Given the description of an element on the screen output the (x, y) to click on. 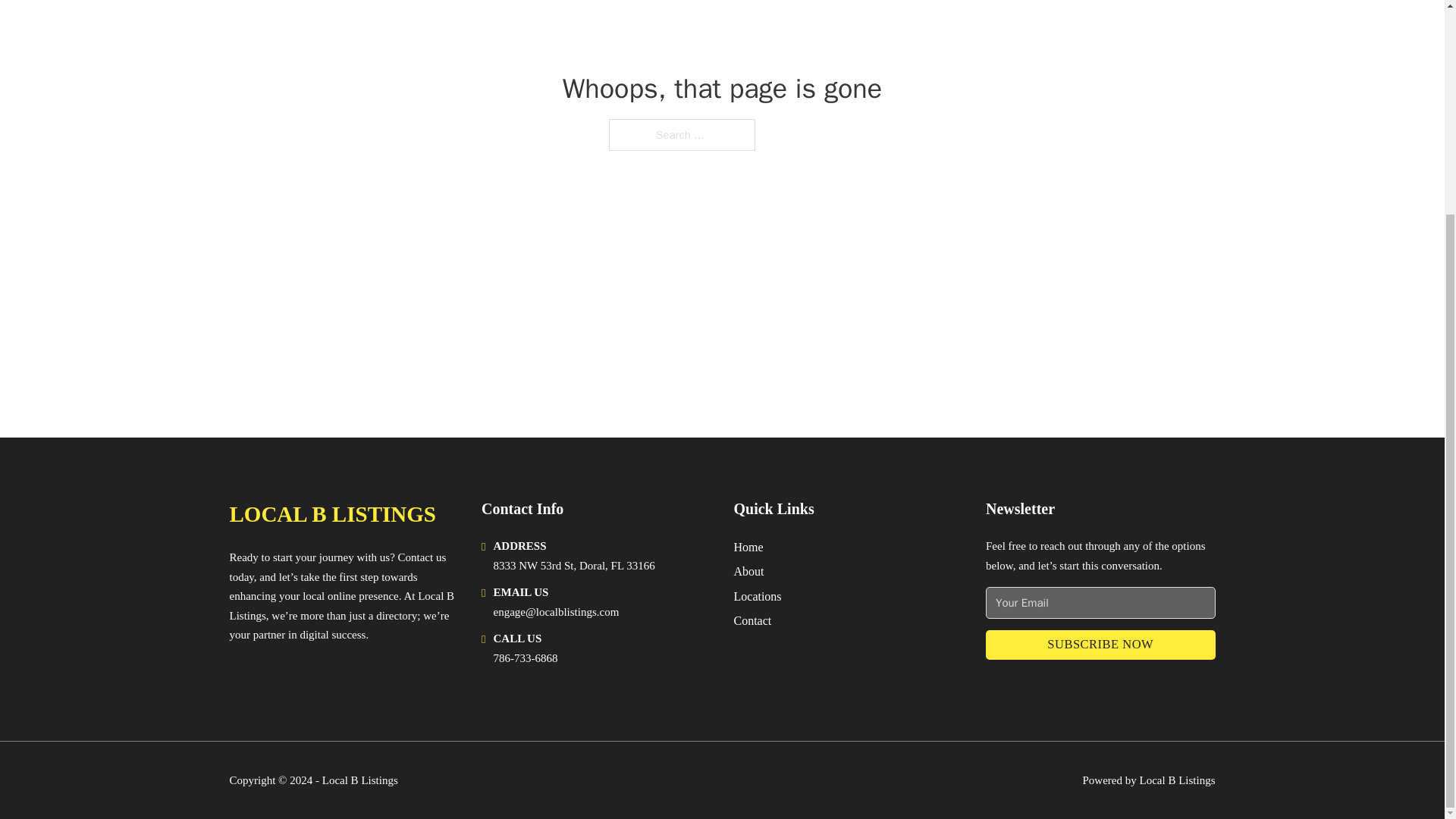
Contact (752, 620)
Locations (757, 596)
786-733-6868 (525, 657)
About (748, 571)
Home (747, 547)
SUBSCRIBE NOW (1100, 644)
LOCAL B LISTINGS (331, 514)
